Given the description of an element on the screen output the (x, y) to click on. 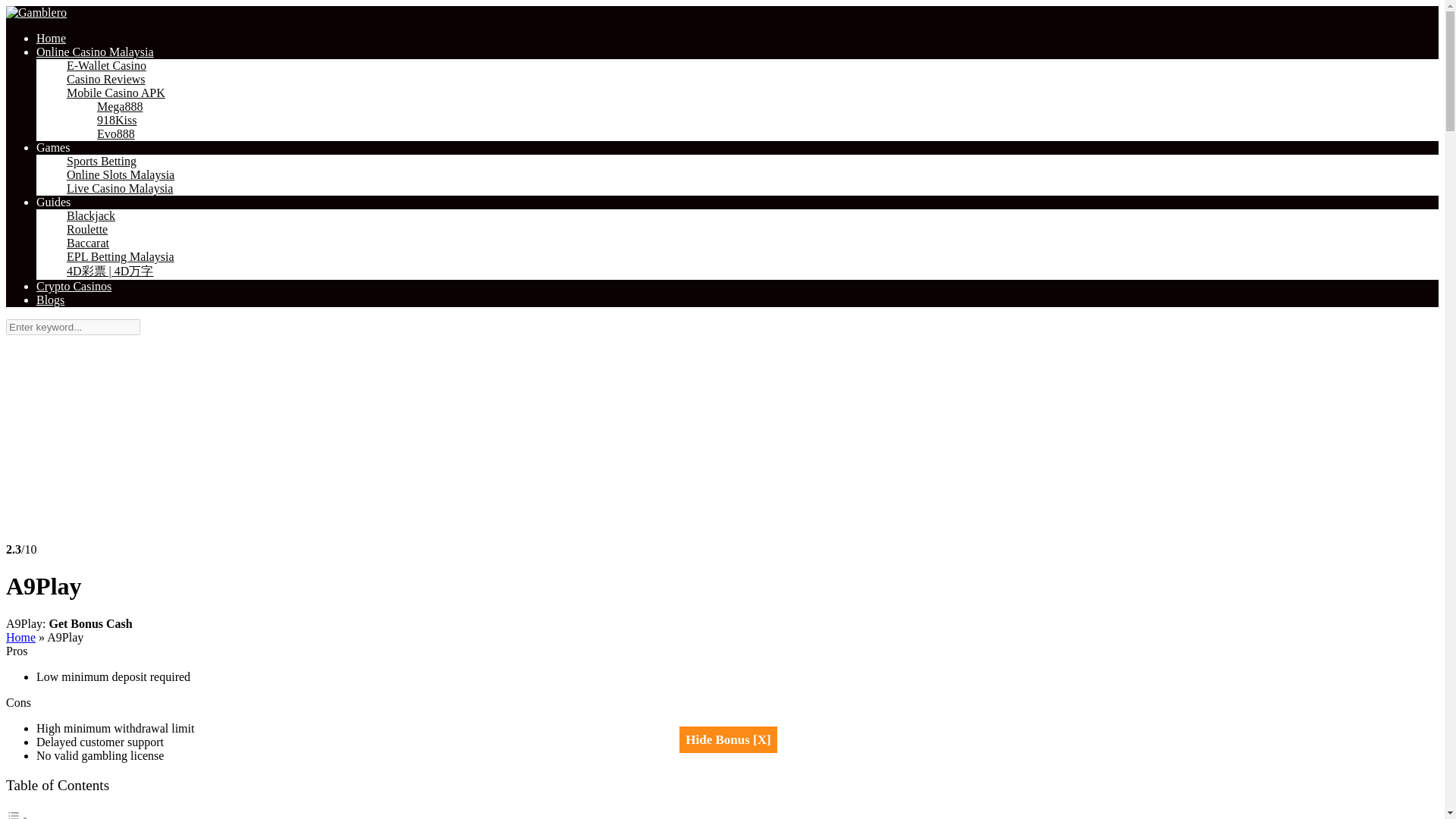
918Kiss (116, 120)
Baccarat (87, 243)
Blackjack (90, 215)
Home (50, 38)
Evo888 (116, 133)
Guides (52, 201)
Casino Reviews (105, 79)
Live Casino Malaysia (119, 188)
Sports Betting (101, 161)
Blogs (50, 299)
Home (19, 636)
Crypto Casinos (74, 286)
Online Casino Malaysia (95, 51)
EPL Betting Malaysia (120, 256)
Games (52, 146)
